Given the description of an element on the screen output the (x, y) to click on. 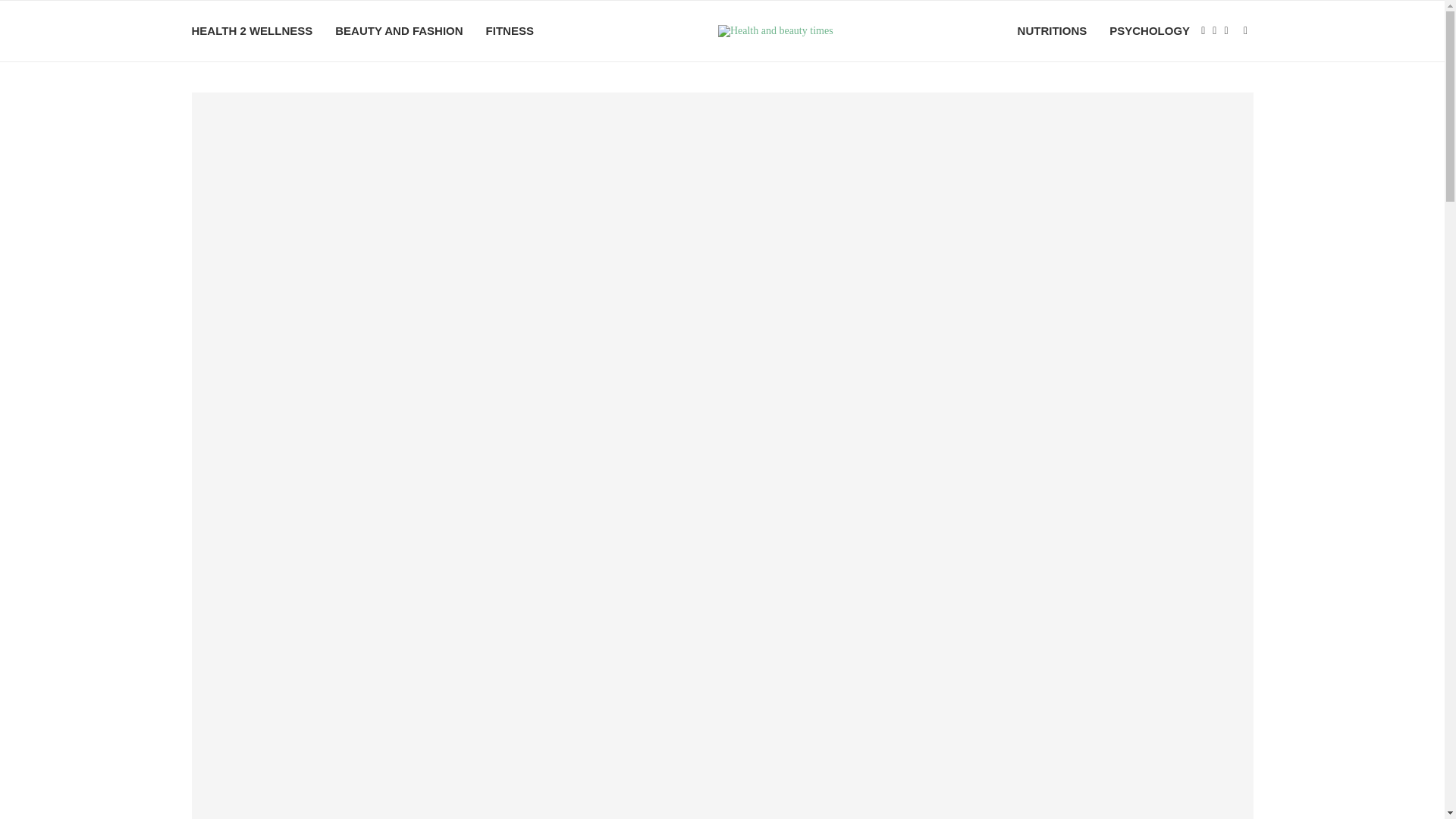
HEALTH 2 WELLNESS (251, 30)
BEAUTY AND FASHION (398, 30)
PSYCHOLOGY (1149, 30)
NUTRITIONS (1052, 30)
